Given the description of an element on the screen output the (x, y) to click on. 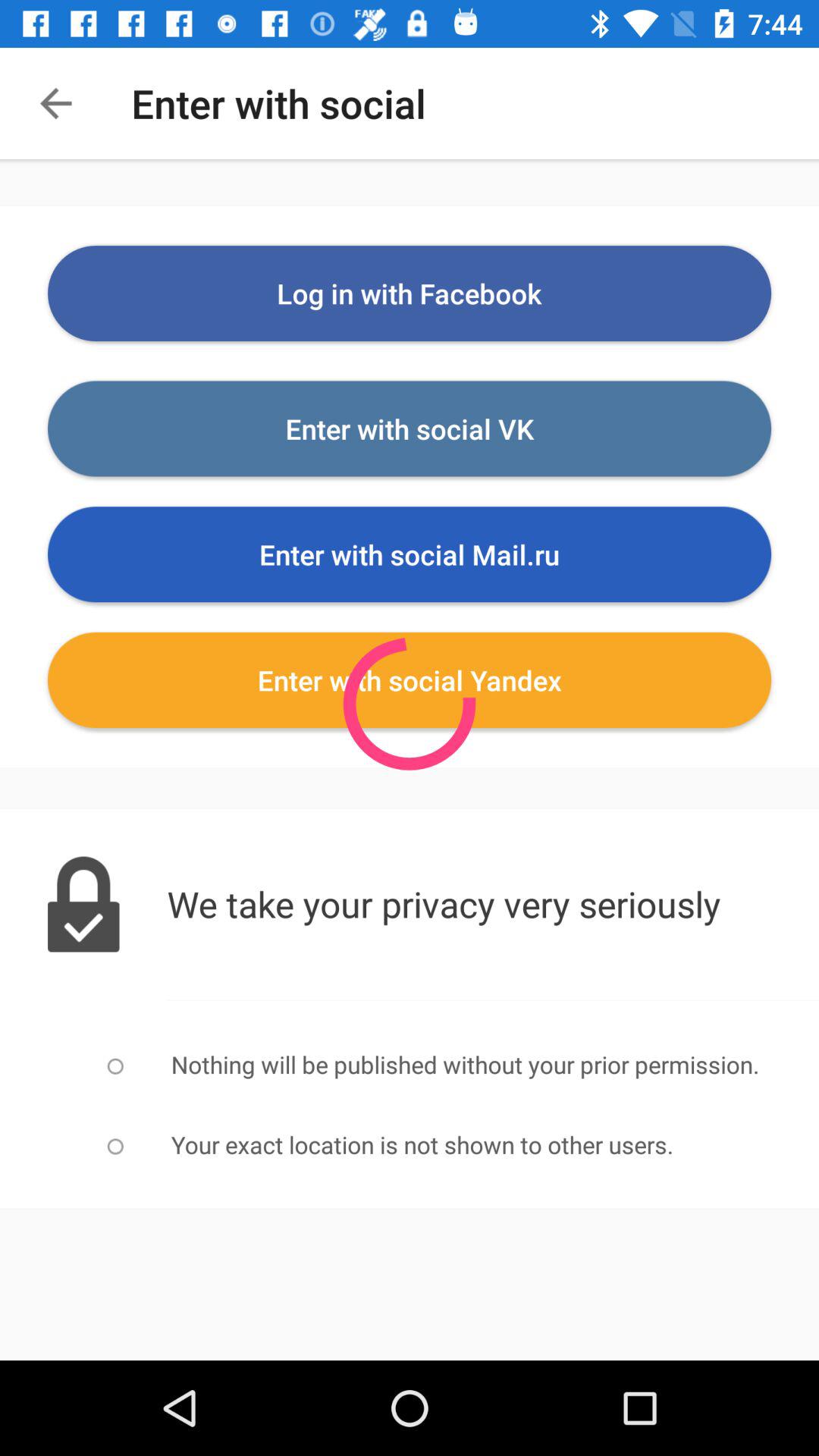
select icon above the enter with social item (409, 293)
